Given the description of an element on the screen output the (x, y) to click on. 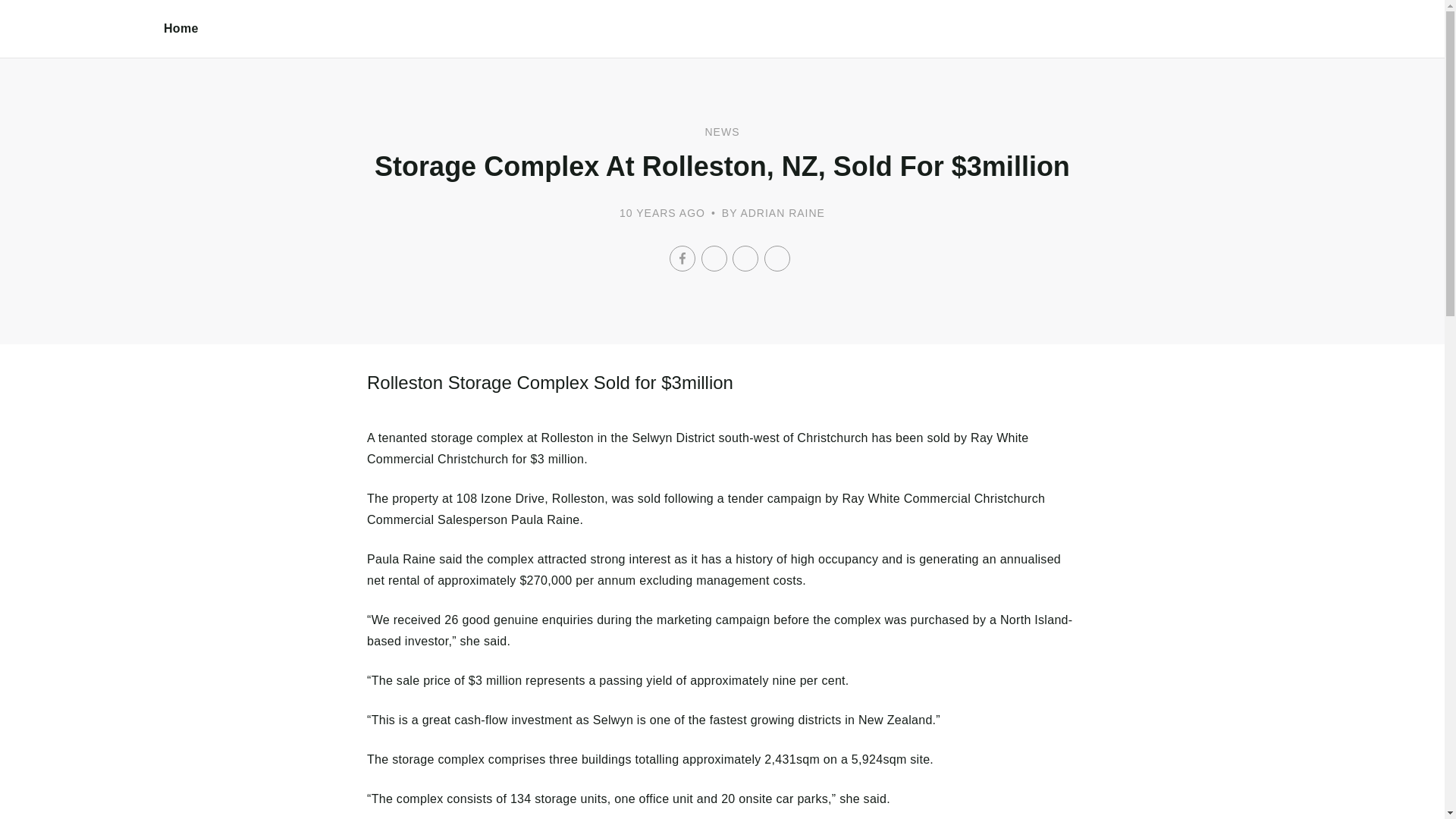
Twitter (713, 258)
LinkedIn (745, 258)
Facebook (682, 258)
RWC Christchurch (82, 45)
Home (180, 28)
Email (777, 258)
